Given the description of an element on the screen output the (x, y) to click on. 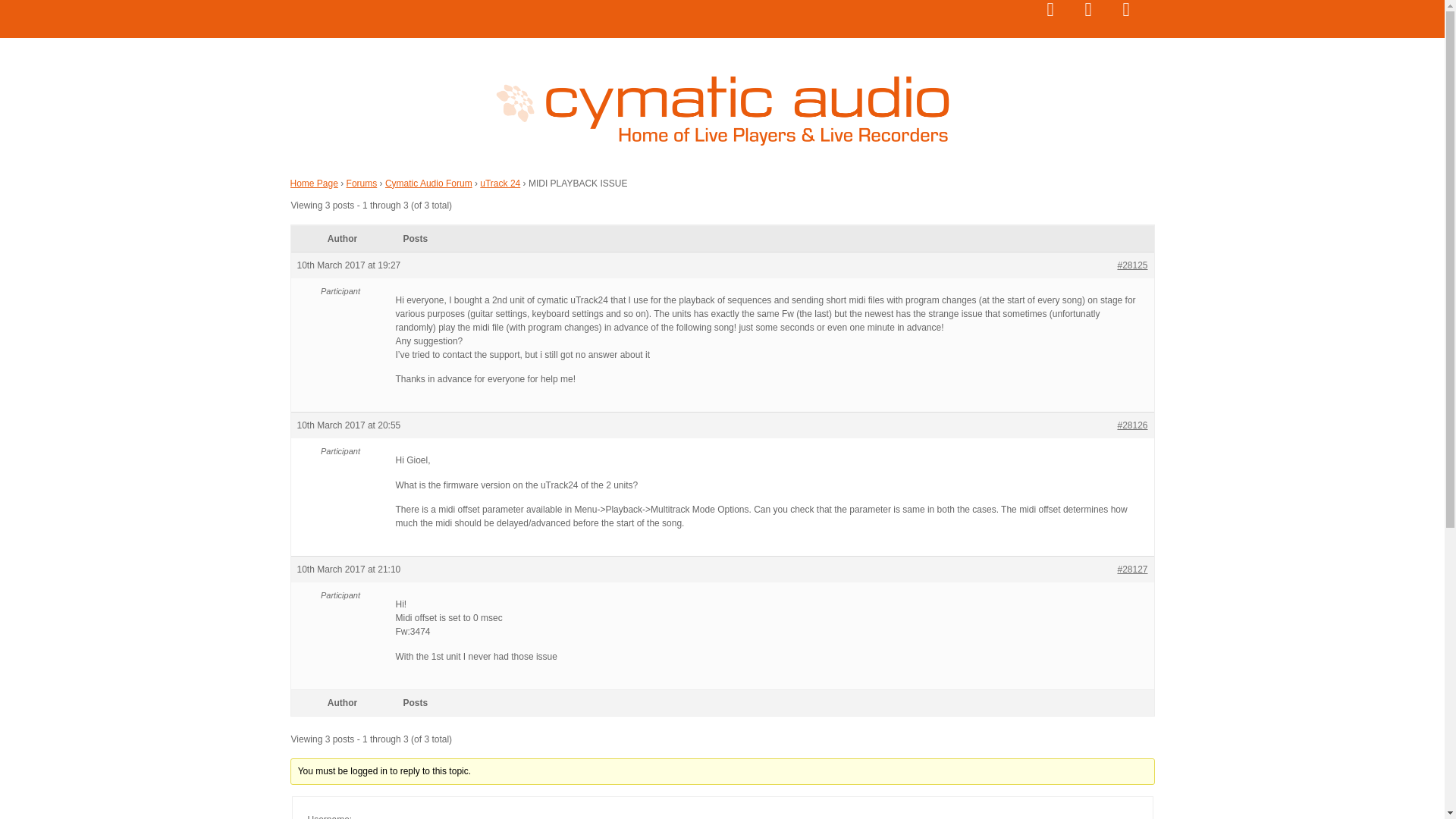
Cymatic Audio Forum (428, 182)
Forums (361, 182)
uTrack 24 (499, 182)
Home Page (313, 182)
